Given the description of an element on the screen output the (x, y) to click on. 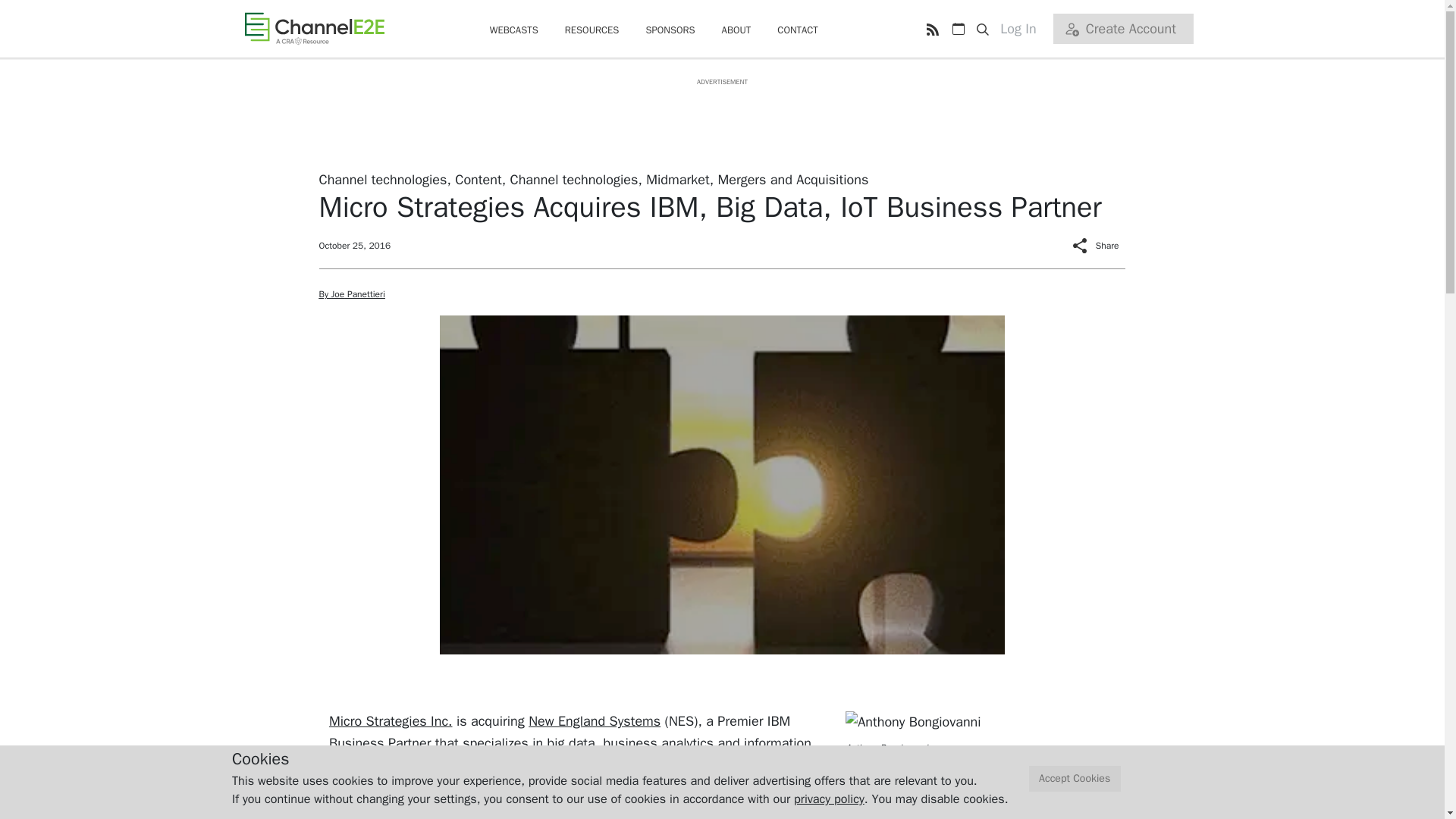
WEBCASTS (513, 30)
Create Account (1122, 29)
Mergers and Acquisitions (792, 179)
CONTACT (797, 30)
3rd party ad content (721, 121)
SPONSORS (669, 30)
Channel technologies (382, 179)
Log In (1023, 29)
RESOURCES (592, 30)
Channel technologies (573, 179)
By Joe Panettieri (351, 294)
Micro Strategies Inc. (390, 720)
Content (477, 179)
View Cybersecurity Conference Calendar (957, 28)
privacy policy (828, 798)
